Given the description of an element on the screen output the (x, y) to click on. 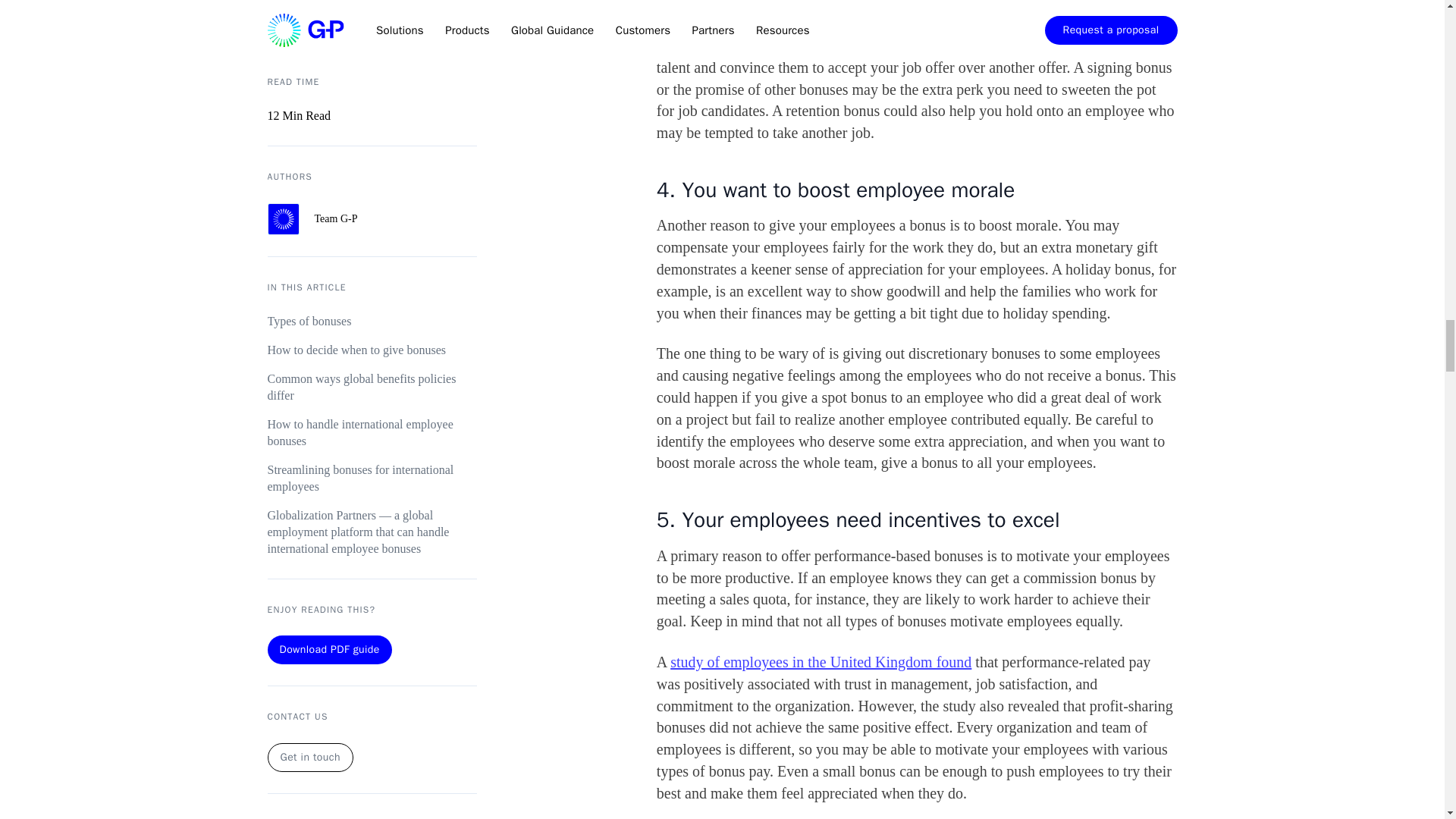
study of employees in the United Kingdom found (820, 661)
